Given the description of an element on the screen output the (x, y) to click on. 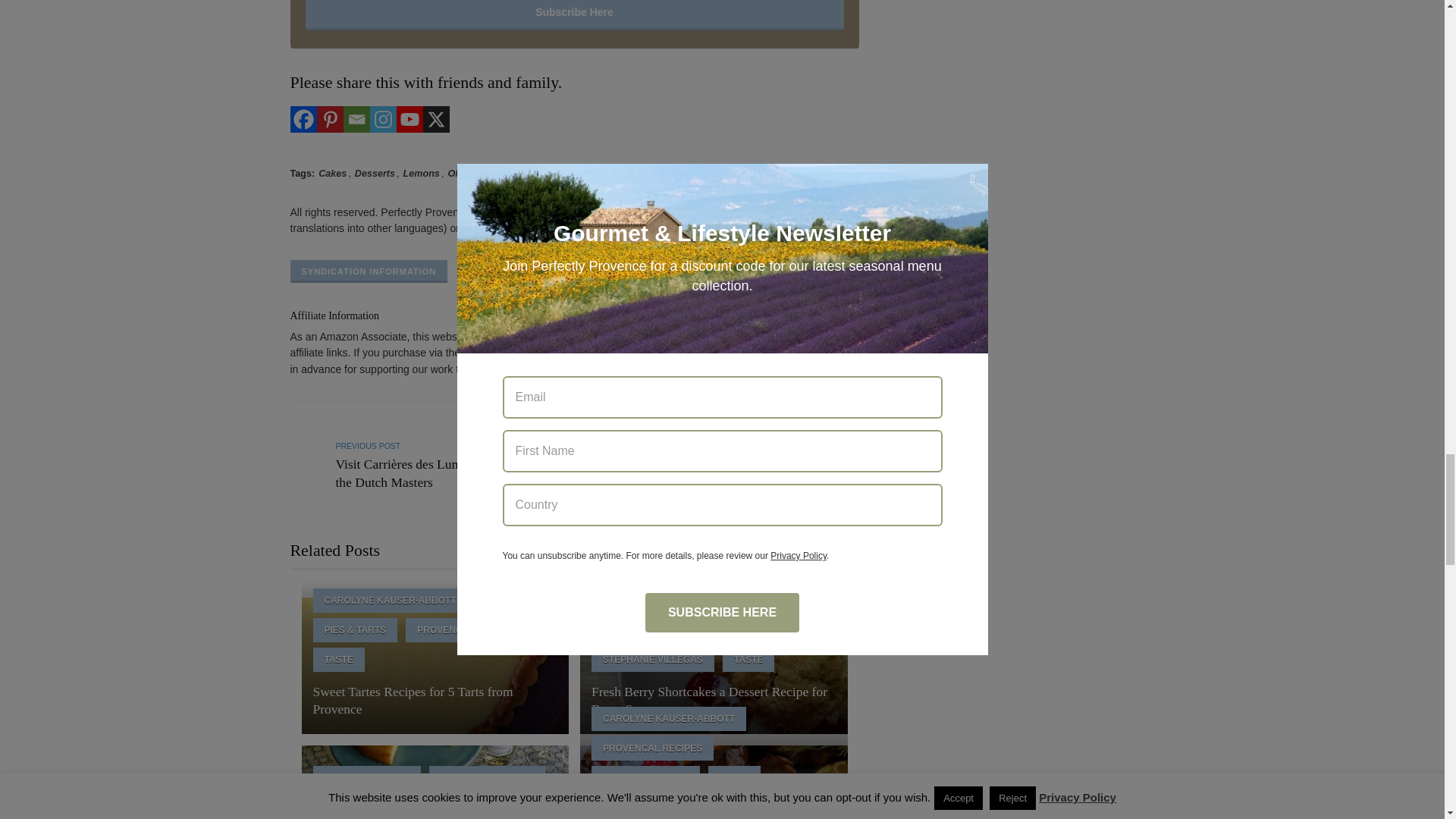
Facebook (302, 119)
Pinterest (330, 119)
Email (355, 119)
View all posts in Dessert (508, 600)
View all posts in Carolyne Kauser-Abbott (390, 600)
Youtube (409, 119)
View all posts in Provencal Recipes (466, 630)
Instagram (382, 119)
X (436, 119)
